Given the description of an element on the screen output the (x, y) to click on. 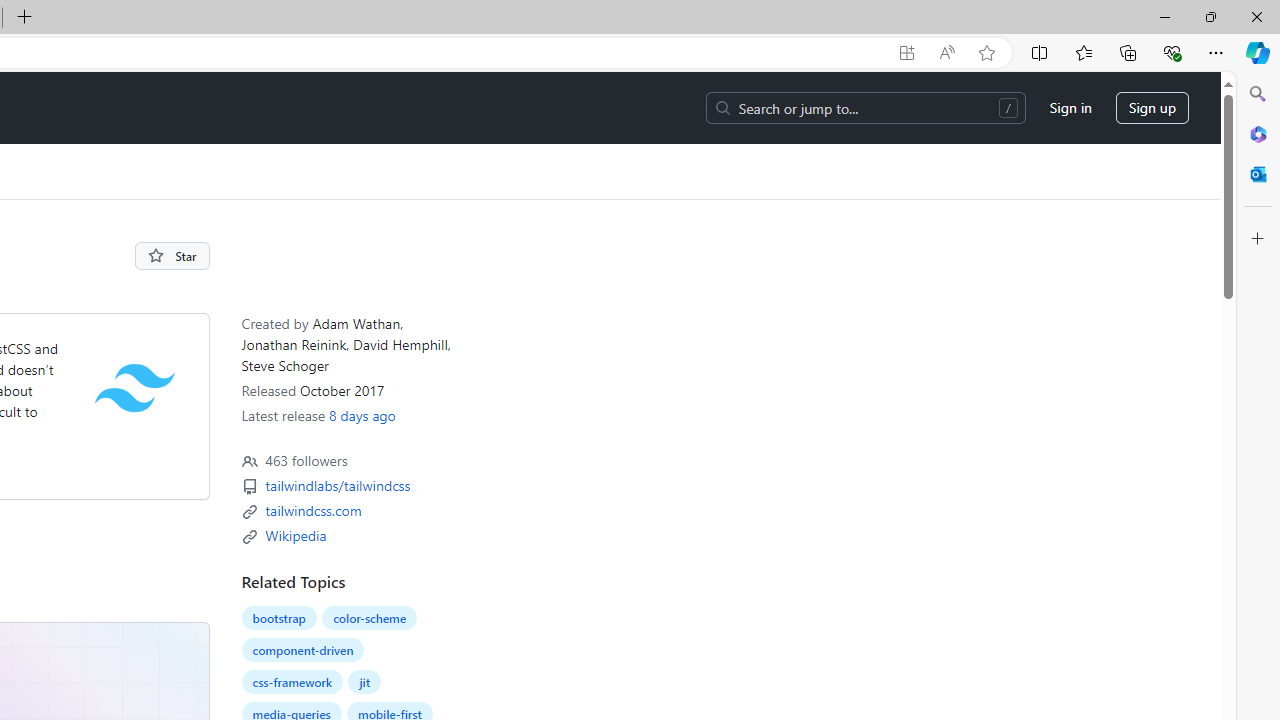
tailwind logo (134, 387)
tailwindcss.com (313, 510)
Topic followers (249, 462)
component-driven (302, 649)
jit (364, 682)
8 days ago (361, 415)
